Given the description of an element on the screen output the (x, y) to click on. 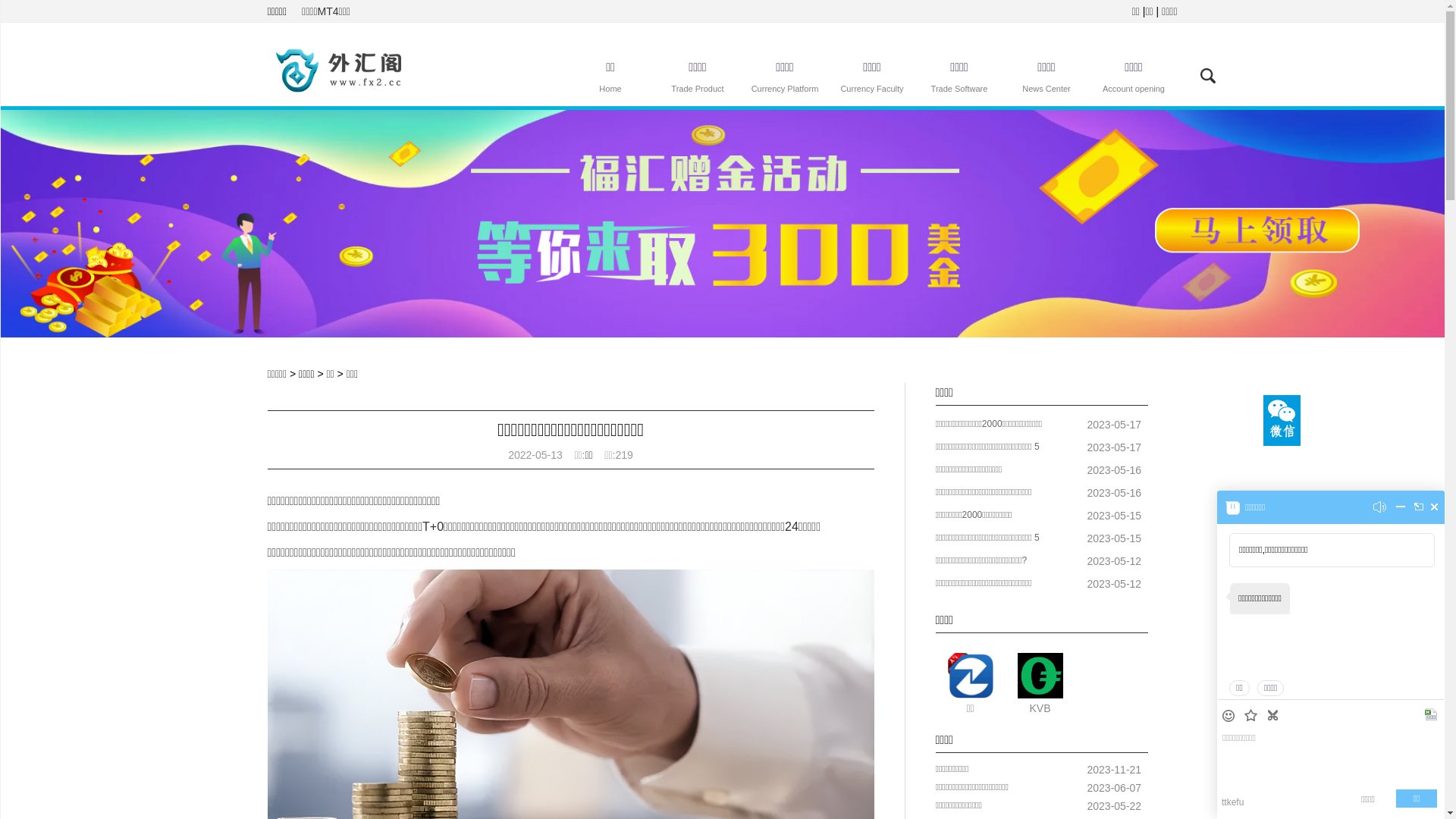
  Element type: text (1229, 715)
  Element type: text (1273, 715)
  Element type: text (1434, 506)
  Element type: text (1400, 509)
  Element type: text (1251, 716)
  Element type: text (1430, 715)
